Given the description of an element on the screen output the (x, y) to click on. 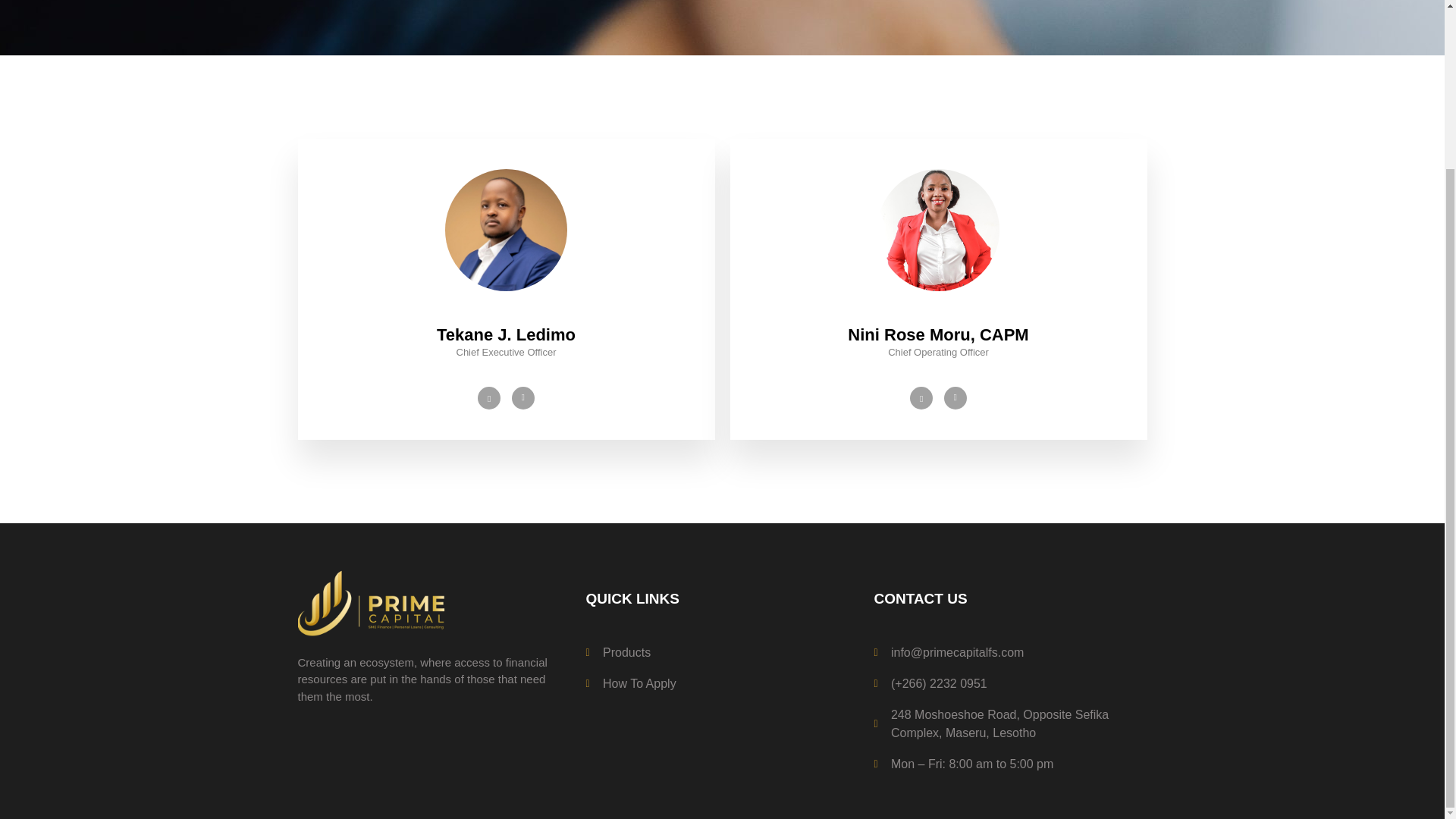
Tekane J. Ledimo (505, 334)
Nini Rose Moru, CAPM (937, 334)
Products (722, 652)
How To Apply (722, 683)
